Given the description of an element on the screen output the (x, y) to click on. 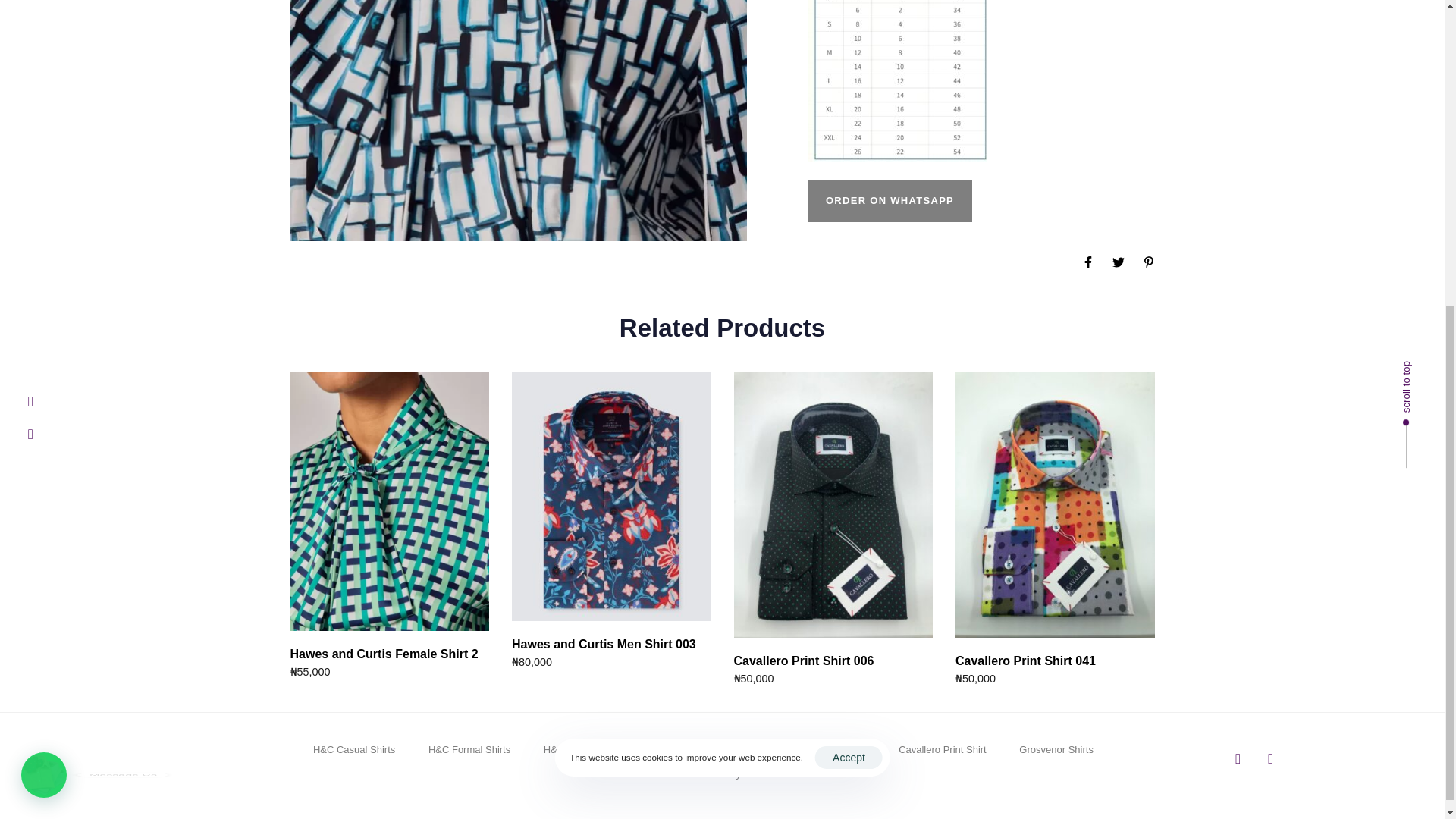
ORDER ON WHATSAPP (890, 200)
